Given the description of an element on the screen output the (x, y) to click on. 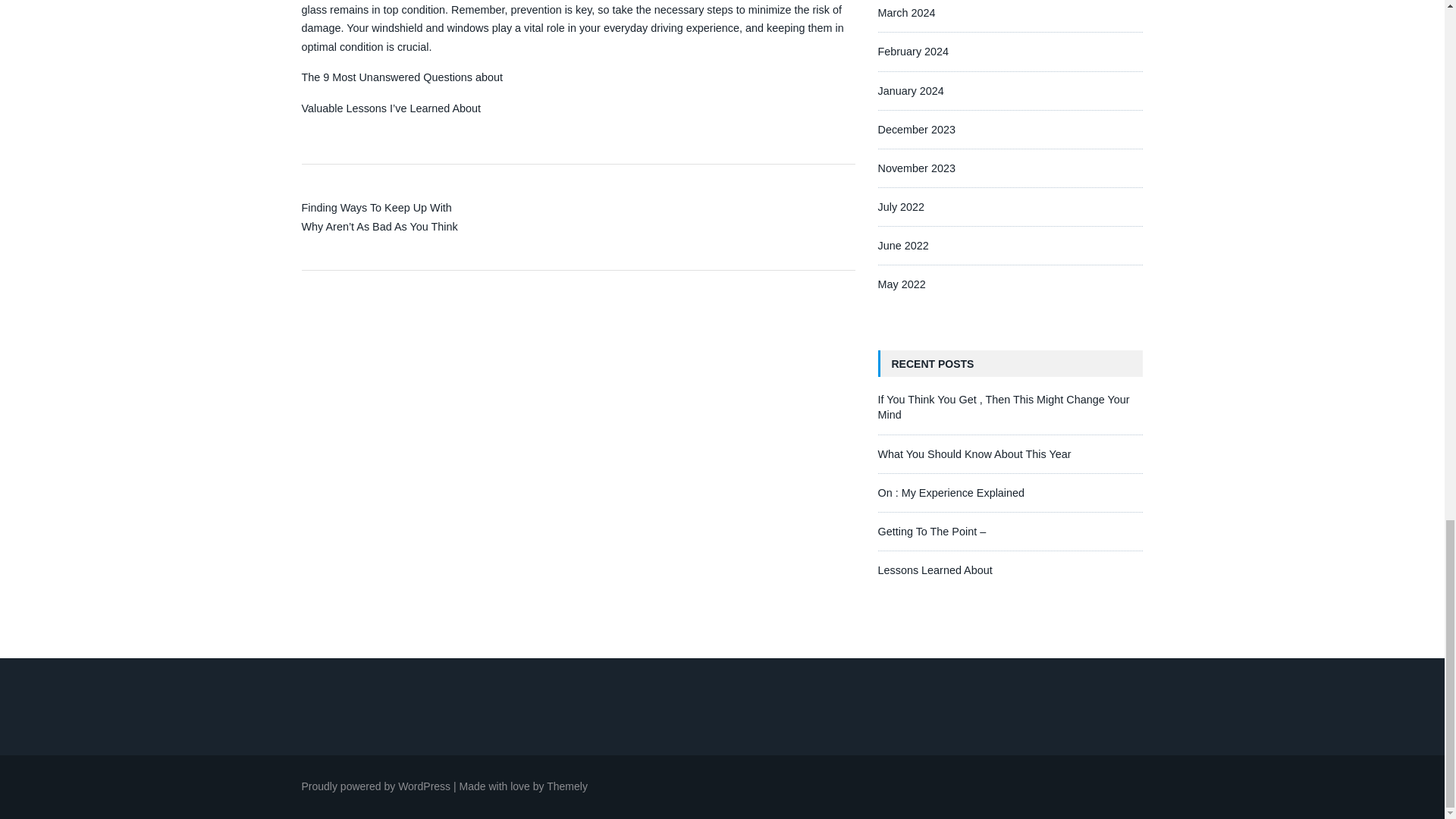
Finding Ways To Keep Up With (376, 207)
The 9 Most Unanswered Questions about (402, 77)
